Given the description of an element on the screen output the (x, y) to click on. 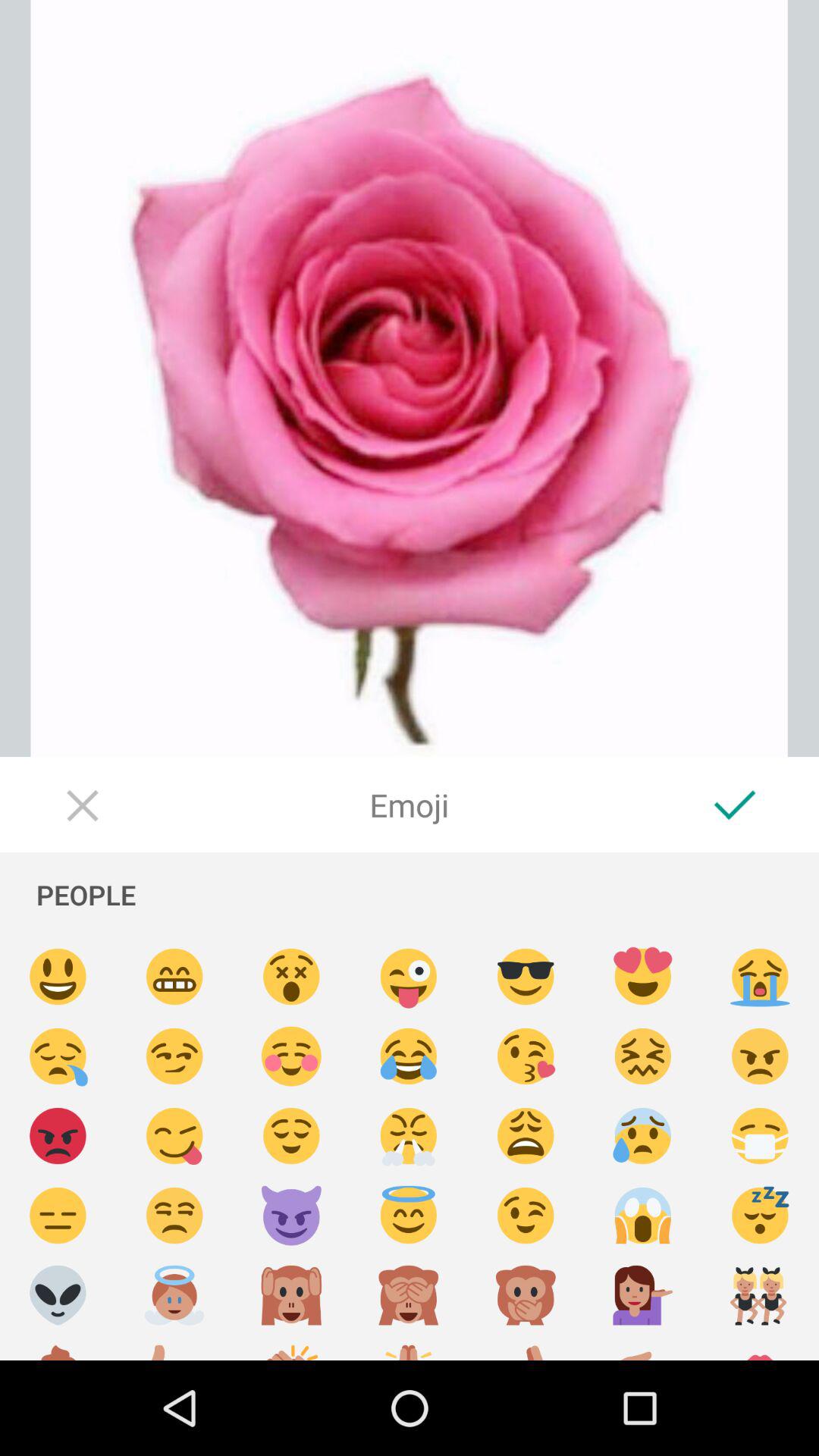
emoji chosen (408, 1215)
